Given the description of an element on the screen output the (x, y) to click on. 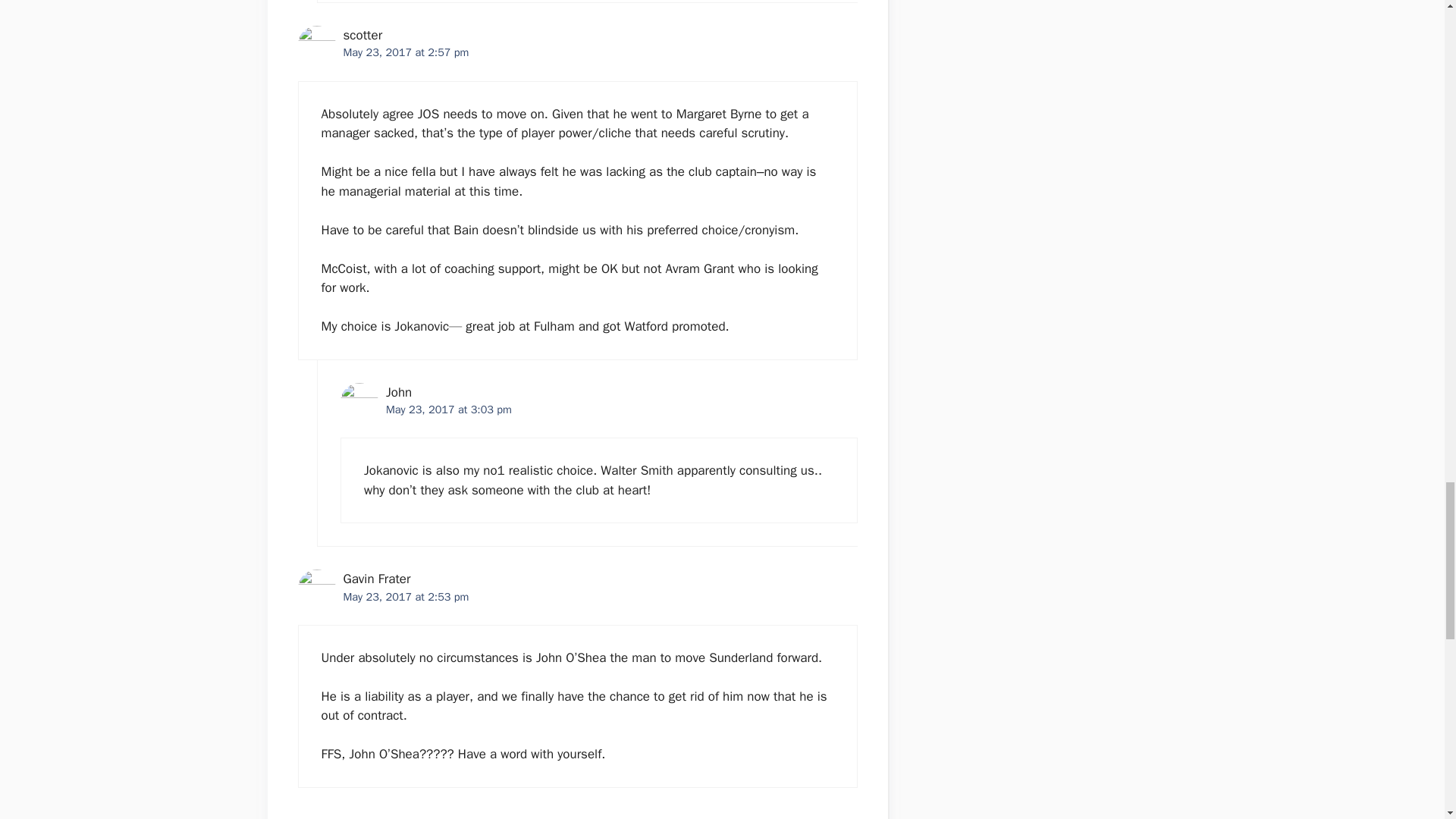
May 23, 2017 at 3:03 pm (448, 409)
May 23, 2017 at 2:53 pm (405, 596)
May 23, 2017 at 2:57 pm (405, 51)
